Given the description of an element on the screen output the (x, y) to click on. 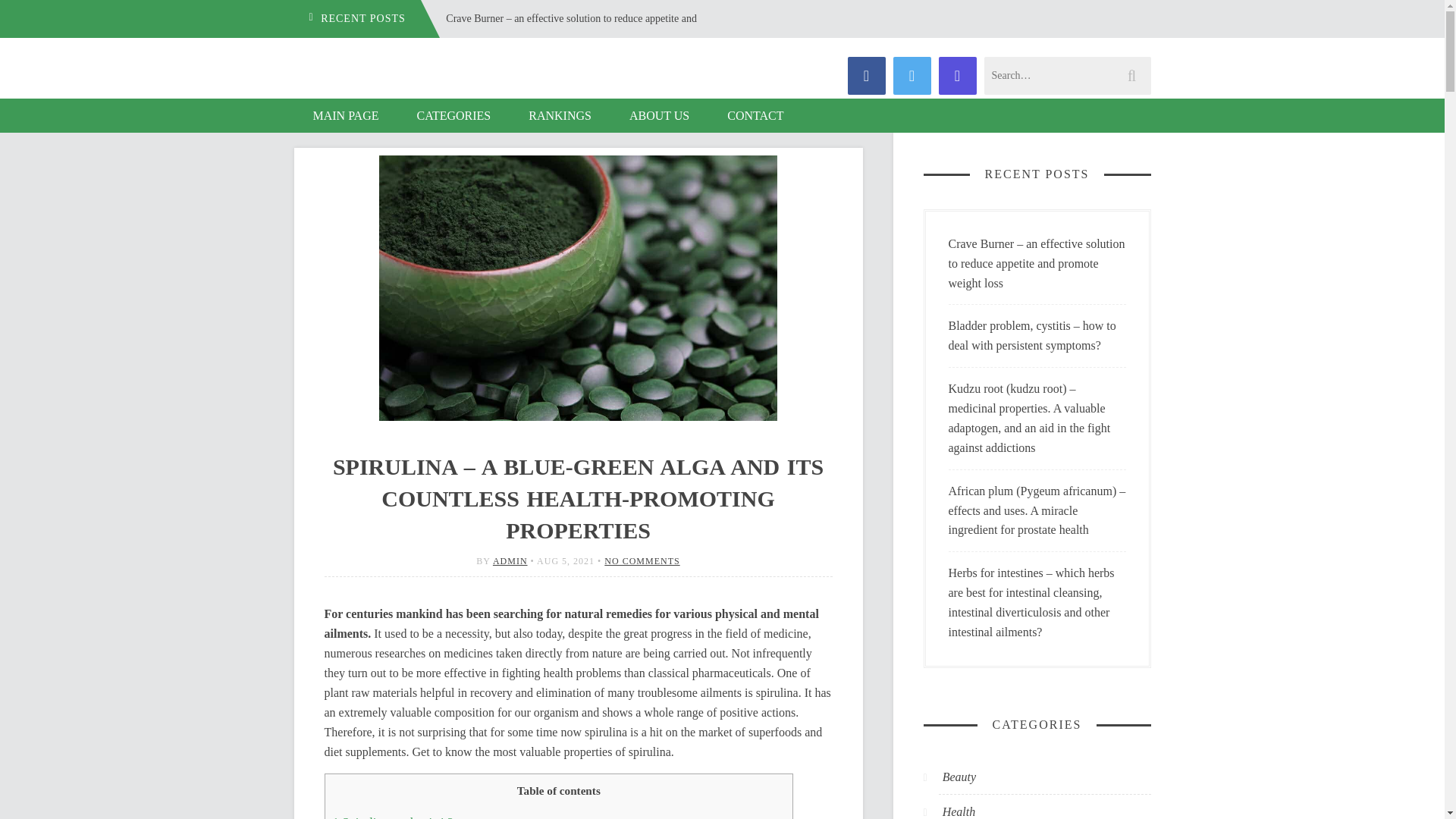
RANKINGS (559, 115)
CATEGORIES (453, 115)
CONTACT (754, 115)
MAIN PAGE (345, 115)
NO COMMENTS (641, 561)
ABOUT US (658, 115)
ADMIN (510, 561)
